Given the description of an element on the screen output the (x, y) to click on. 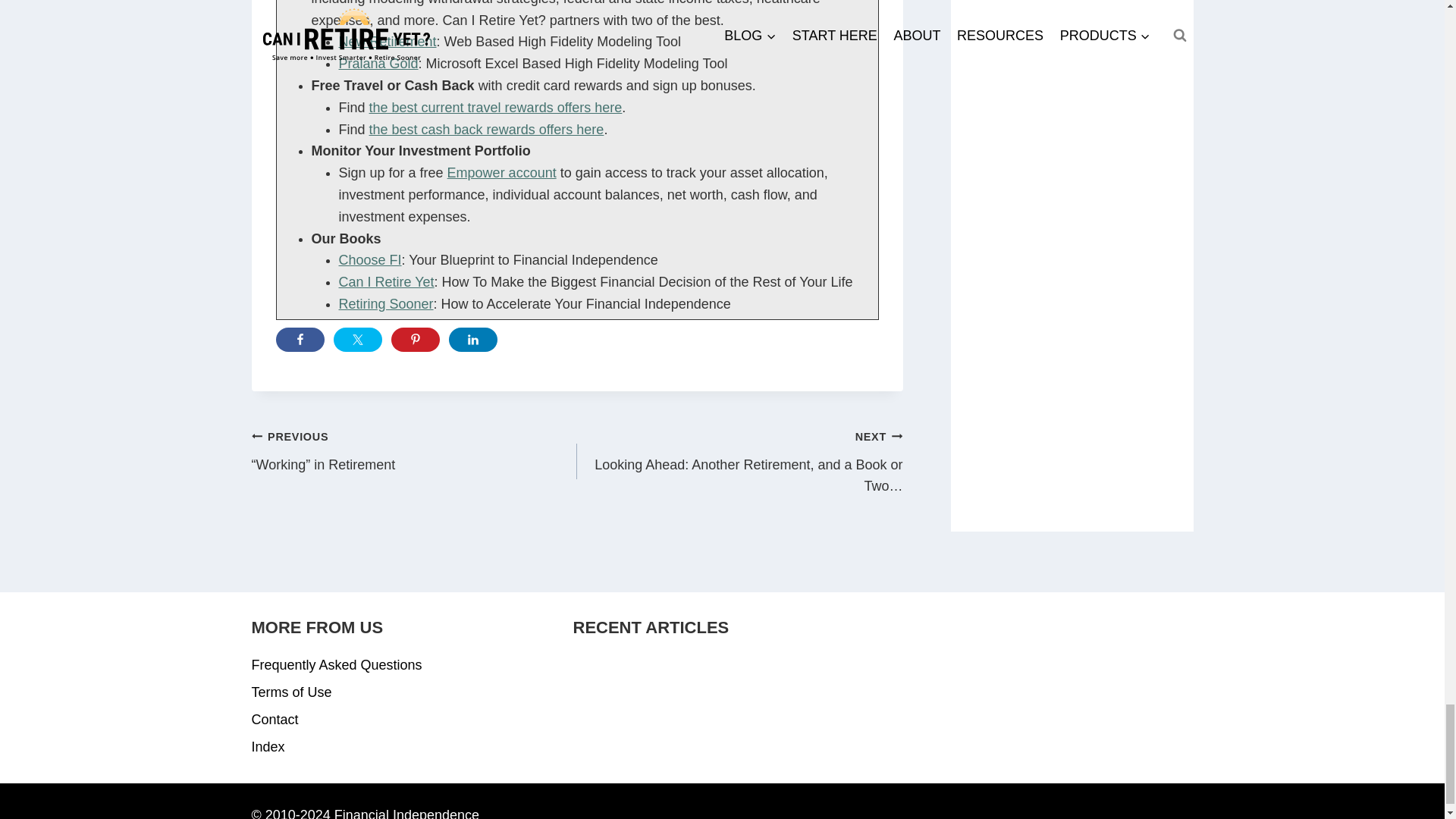
Share on Pinterest (415, 339)
Share on LinkedIn (472, 339)
Share on Facebook (300, 339)
Share on Twitter (357, 339)
